Given the description of an element on the screen output the (x, y) to click on. 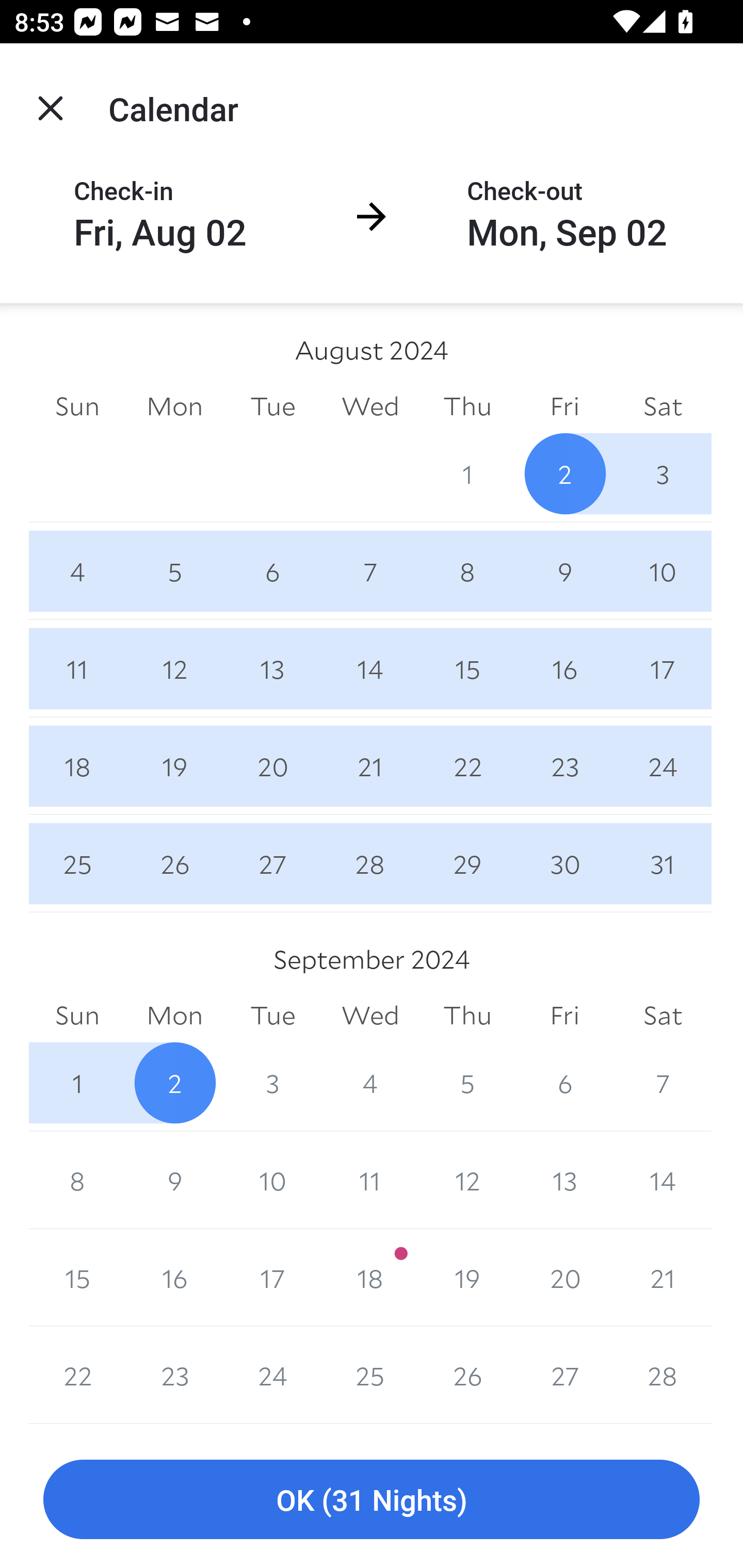
Sun (77, 405)
Mon (174, 405)
Tue (272, 405)
Wed (370, 405)
Thu (467, 405)
Fri (564, 405)
Sat (662, 405)
1 1 August 2024 (467, 473)
2 2 August 2024 (564, 473)
3 3 August 2024 (662, 473)
4 4 August 2024 (77, 570)
5 5 August 2024 (174, 570)
6 6 August 2024 (272, 570)
7 7 August 2024 (370, 570)
8 8 August 2024 (467, 570)
9 9 August 2024 (564, 570)
10 10 August 2024 (662, 570)
11 11 August 2024 (77, 668)
12 12 August 2024 (174, 668)
13 13 August 2024 (272, 668)
14 14 August 2024 (370, 668)
15 15 August 2024 (467, 668)
16 16 August 2024 (564, 668)
17 17 August 2024 (662, 668)
18 18 August 2024 (77, 766)
19 19 August 2024 (174, 766)
20 20 August 2024 (272, 766)
21 21 August 2024 (370, 766)
22 22 August 2024 (467, 766)
23 23 August 2024 (564, 766)
24 24 August 2024 (662, 766)
25 25 August 2024 (77, 863)
26 26 August 2024 (174, 863)
27 27 August 2024 (272, 863)
28 28 August 2024 (370, 863)
29 29 August 2024 (467, 863)
30 30 August 2024 (564, 863)
31 31 August 2024 (662, 863)
Sun (77, 1015)
Mon (174, 1015)
Tue (272, 1015)
Wed (370, 1015)
Thu (467, 1015)
Fri (564, 1015)
Sat (662, 1015)
1 1 September 2024 (77, 1083)
2 2 September 2024 (174, 1083)
3 3 September 2024 (272, 1083)
4 4 September 2024 (370, 1083)
5 5 September 2024 (467, 1083)
6 6 September 2024 (564, 1083)
7 7 September 2024 (662, 1083)
8 8 September 2024 (77, 1180)
9 9 September 2024 (174, 1180)
10 10 September 2024 (272, 1180)
11 11 September 2024 (370, 1180)
12 12 September 2024 (467, 1180)
13 13 September 2024 (564, 1180)
14 14 September 2024 (662, 1180)
15 15 September 2024 (77, 1277)
16 16 September 2024 (174, 1277)
17 17 September 2024 (272, 1277)
18 18 September 2024 (370, 1277)
19 19 September 2024 (467, 1277)
20 20 September 2024 (564, 1277)
21 21 September 2024 (662, 1277)
22 22 September 2024 (77, 1374)
23 23 September 2024 (174, 1374)
24 24 September 2024 (272, 1374)
25 25 September 2024 (370, 1374)
26 26 September 2024 (467, 1374)
27 27 September 2024 (564, 1374)
28 28 September 2024 (662, 1374)
OK (31 Nights) (371, 1499)
